Given the description of an element on the screen output the (x, y) to click on. 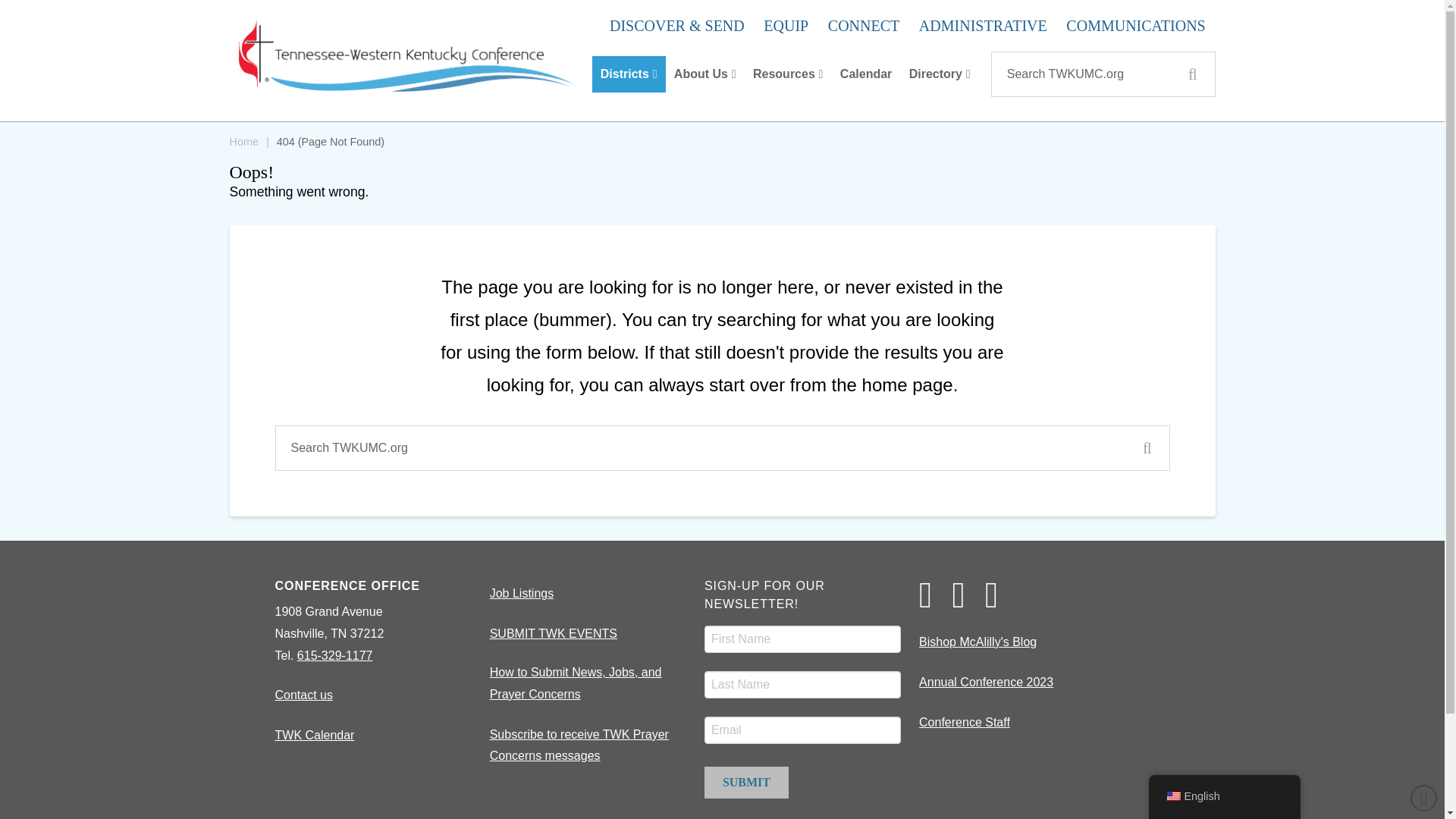
ADMINISTRATIVE (982, 25)
CONNECT (863, 25)
EQUIP (786, 25)
Back to Top (1423, 797)
You Are Here (330, 141)
COMMUNICATIONS (1136, 25)
Submit (746, 782)
English (1172, 795)
